Given the description of an element on the screen output the (x, y) to click on. 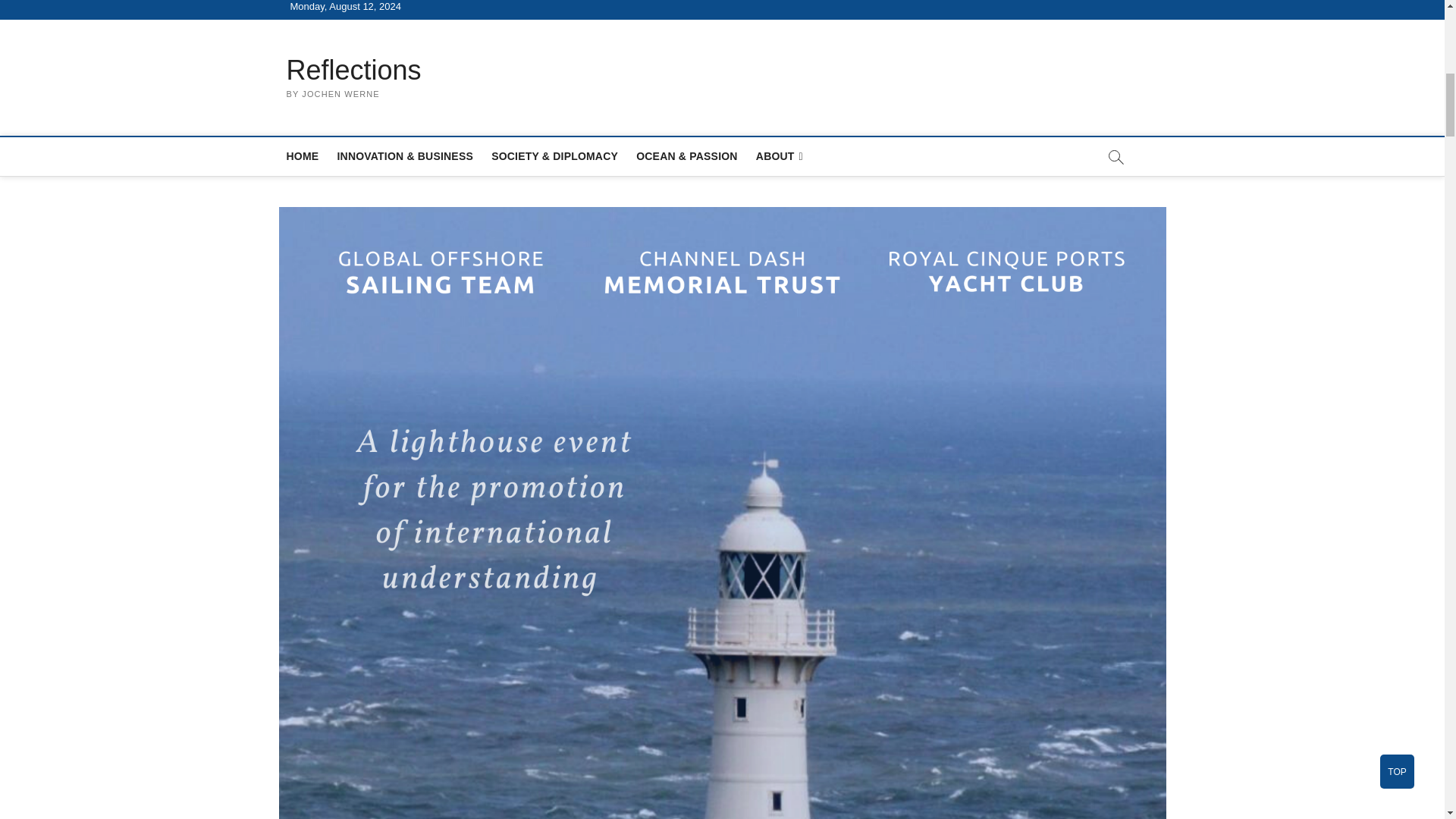
Reflections (354, 70)
Reflections (354, 70)
HOME (302, 156)
ABOUT (779, 156)
